Given the description of an element on the screen output the (x, y) to click on. 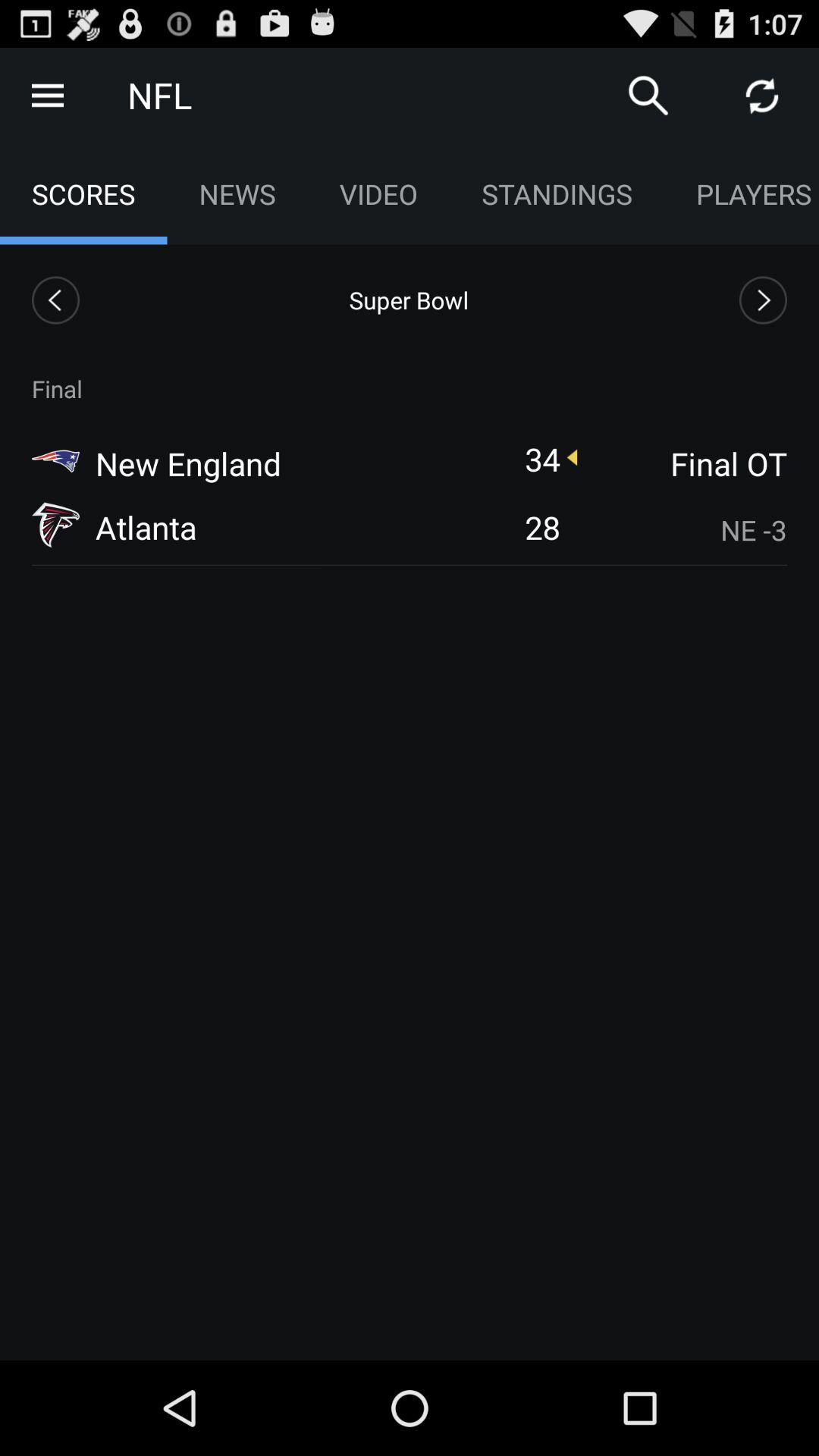
turn off 34 app (542, 458)
